Given the description of an element on the screen output the (x, y) to click on. 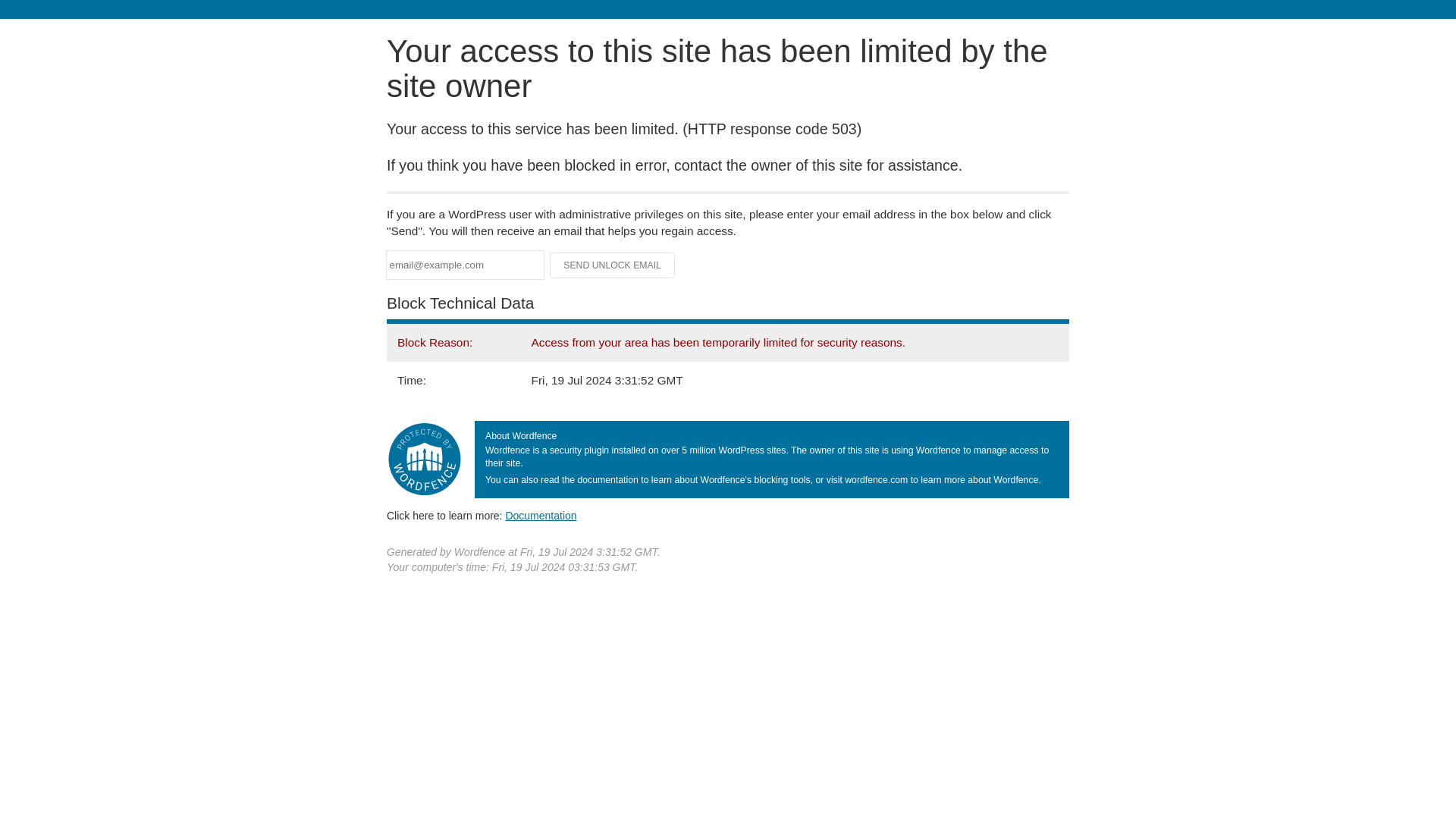
Send Unlock Email (612, 265)
Documentation (540, 515)
Send Unlock Email (612, 265)
